Given the description of an element on the screen output the (x, y) to click on. 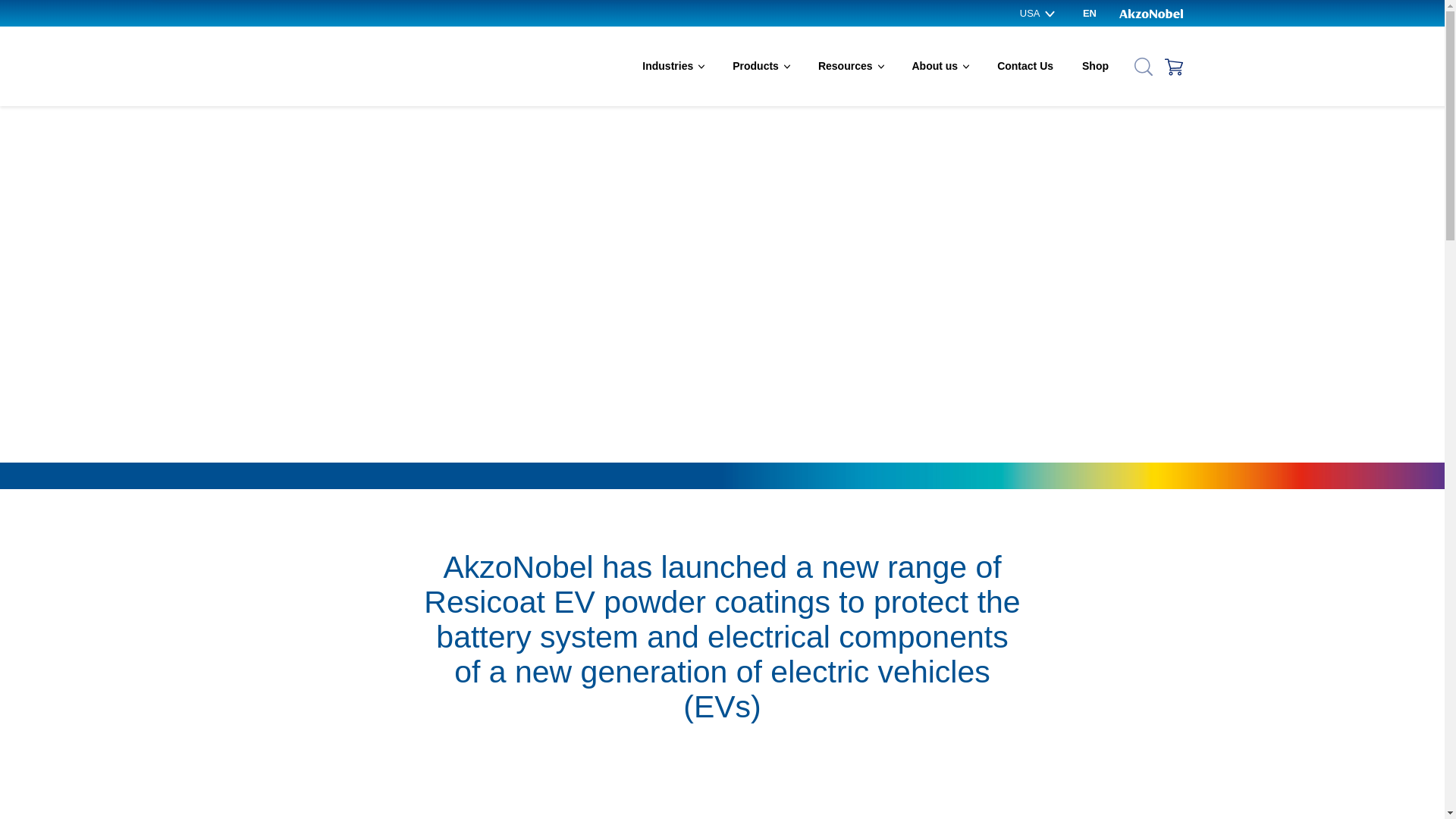
EN (1089, 13)
USA (1036, 13)
